Given the description of an element on the screen output the (x, y) to click on. 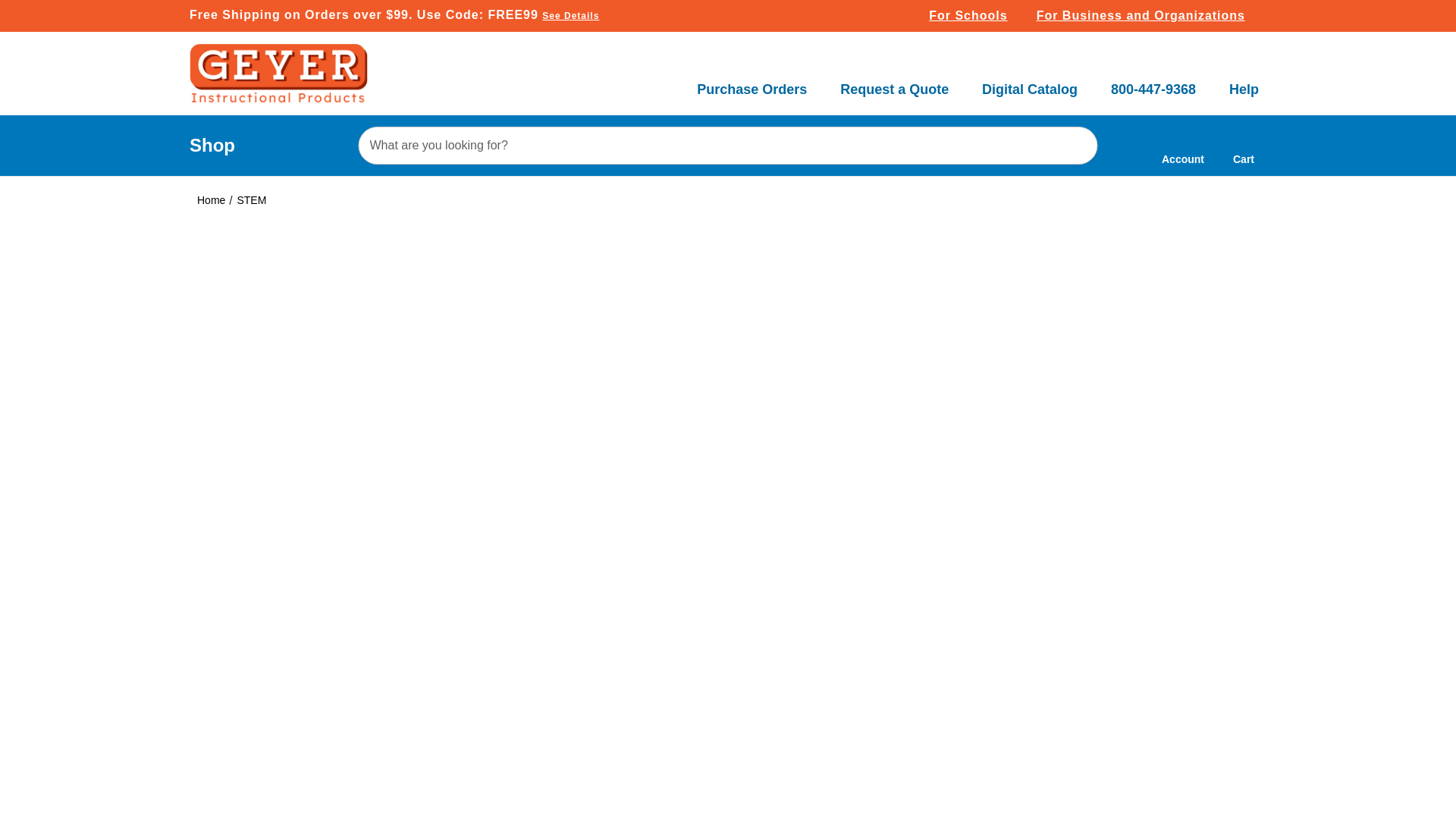
800-447-9368 (1152, 80)
Shop (212, 145)
Cart (1243, 145)
For Business and Organizations (1147, 15)
Purchase Orders (751, 80)
Request a Quote (894, 80)
Digital Catalog (1029, 80)
Geyer Instructional Products (278, 73)
For Schools (974, 15)
